Given the description of an element on the screen output the (x, y) to click on. 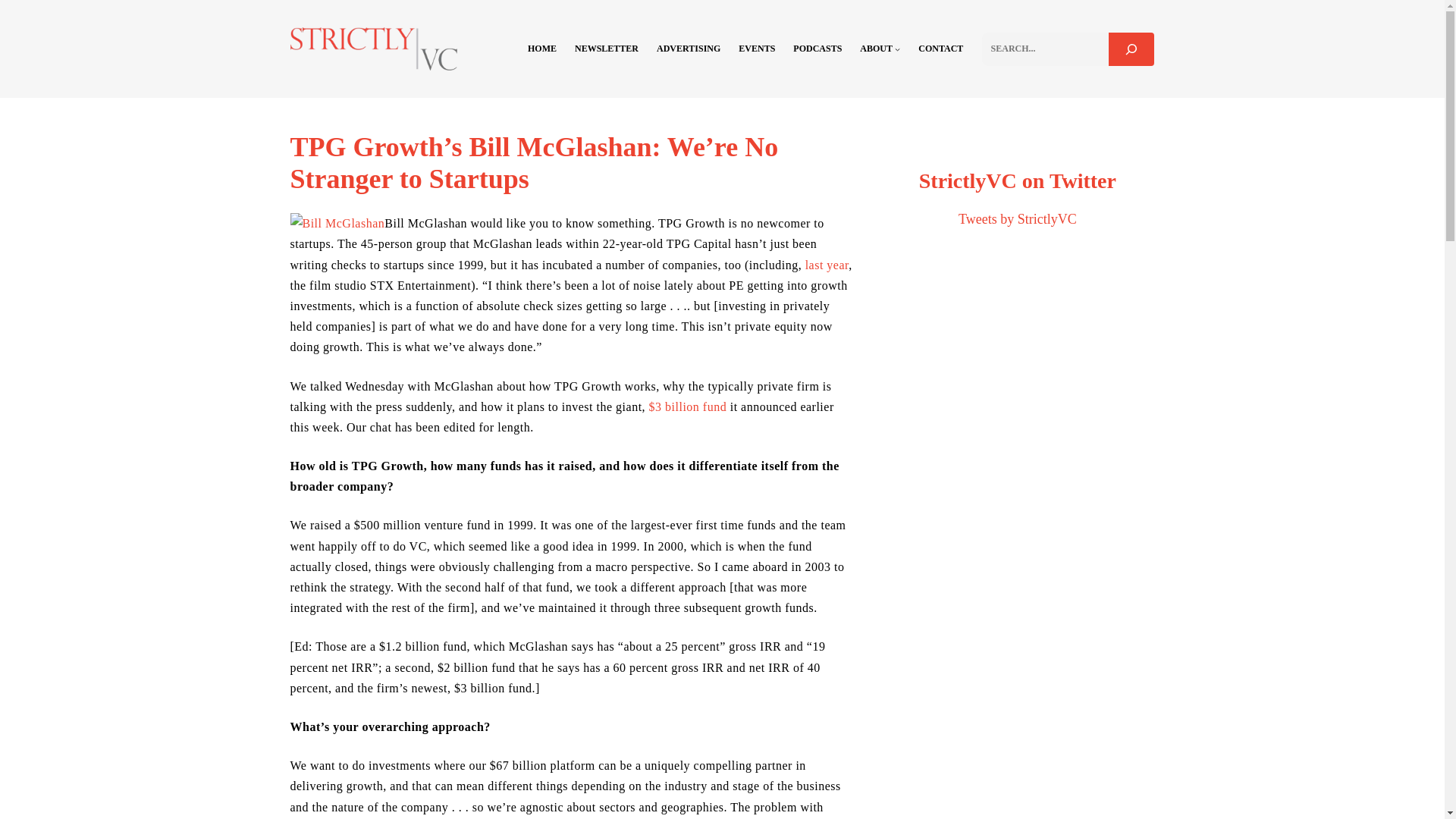
CONTACT (940, 48)
ADVERTISING (688, 48)
Tweets by StrictlyVC (1017, 218)
PODCASTS (817, 48)
EVENTS (756, 48)
HOME (541, 48)
NEWSLETTER (607, 48)
last year (826, 264)
ABOUT (876, 48)
